Given the description of an element on the screen output the (x, y) to click on. 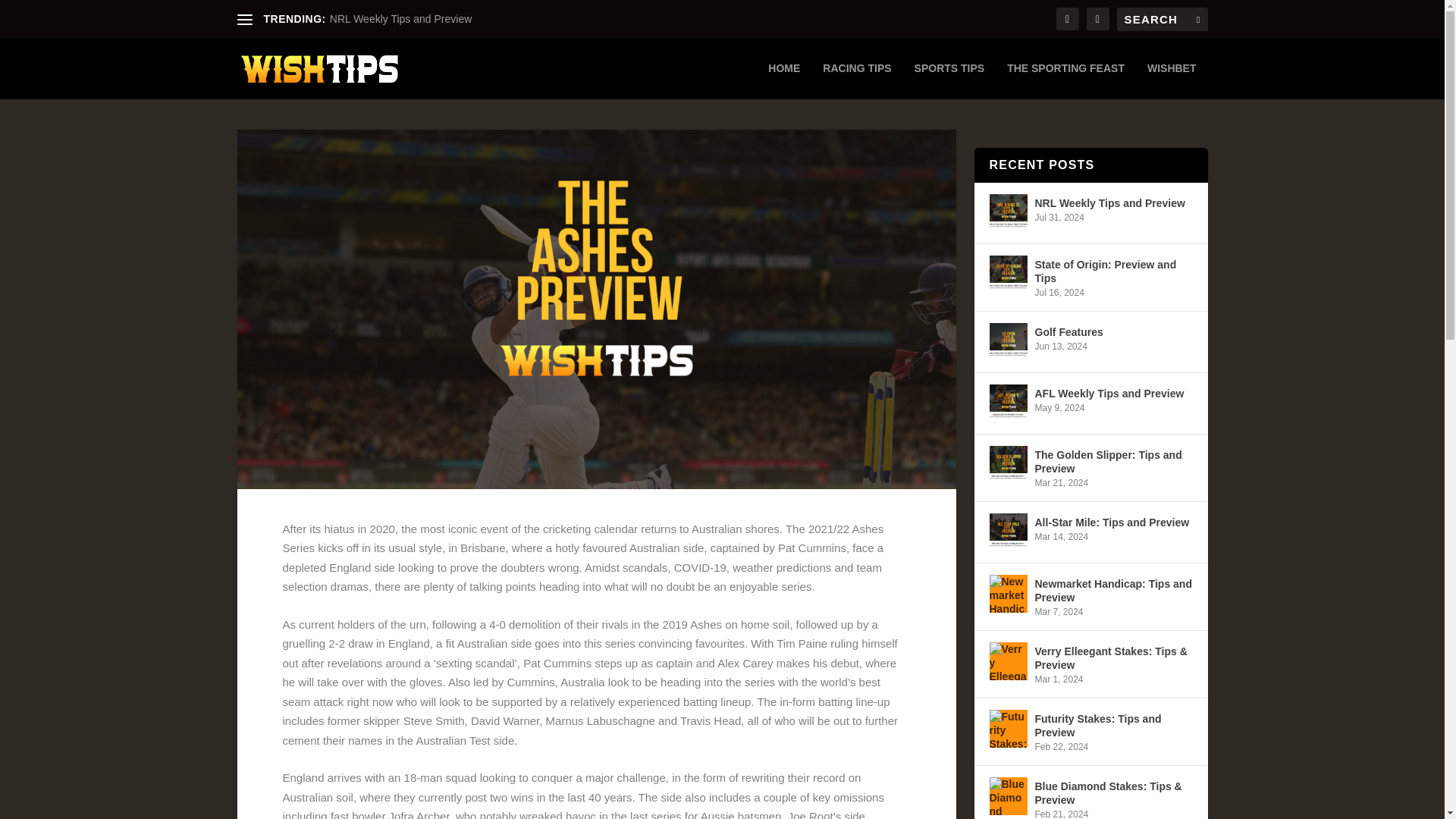
THE SPORTING FEAST (1065, 80)
WISHBET (1171, 80)
RACING TIPS (856, 80)
Search for: (1161, 19)
SPORTS TIPS (949, 80)
NRL Weekly Tips and Preview (400, 19)
